Given the description of an element on the screen output the (x, y) to click on. 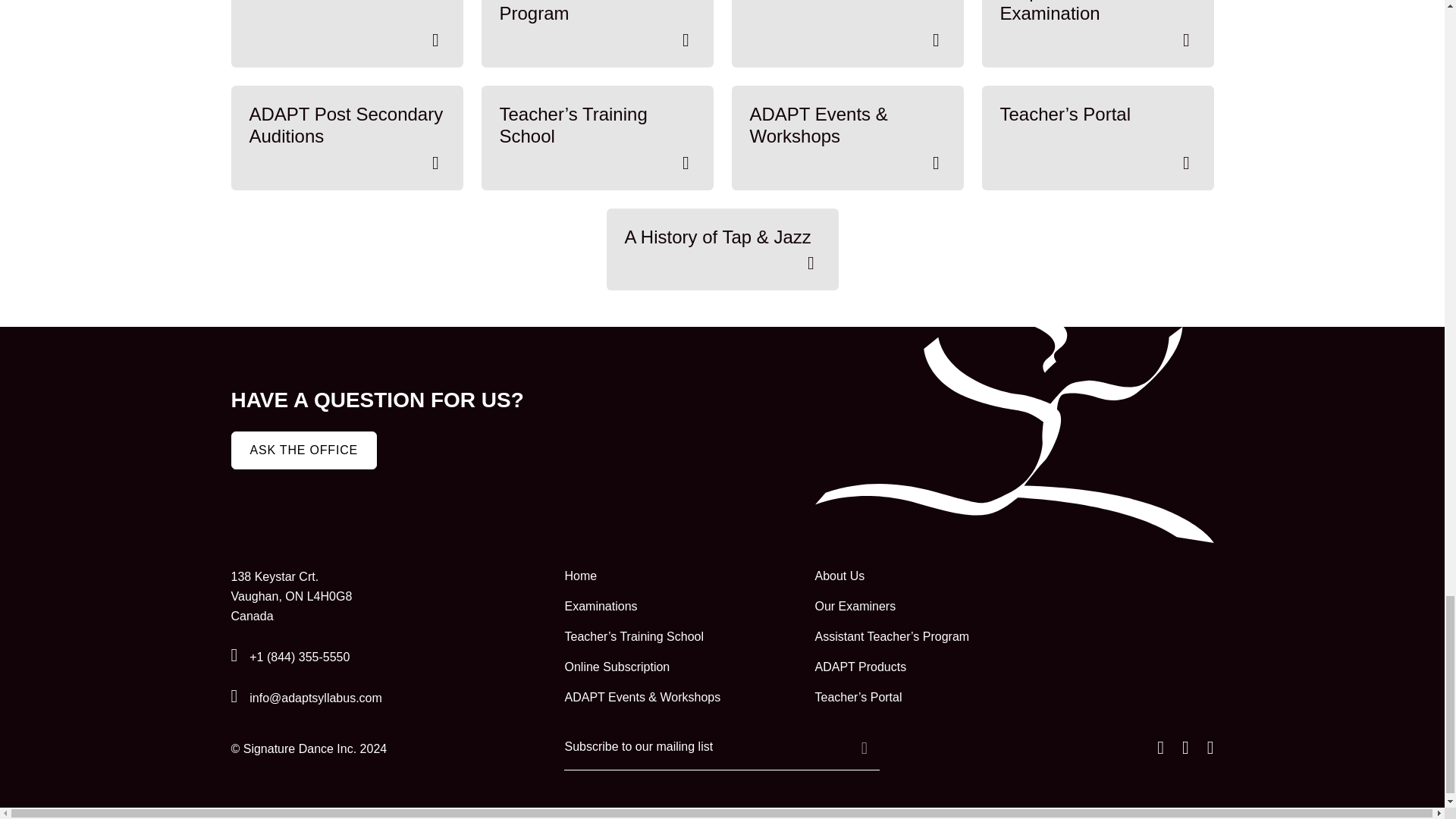
Request An Examination (1096, 33)
ADAPT Products (346, 33)
ASK THE OFFICE (302, 450)
Examinations (680, 606)
Exam Studio Locations (846, 33)
ADAPT Products (929, 667)
Home (680, 576)
ADAPT Post Secondary Auditions (346, 137)
Our Examiners (929, 606)
Online Subscription (680, 667)
